Given the description of an element on the screen output the (x, y) to click on. 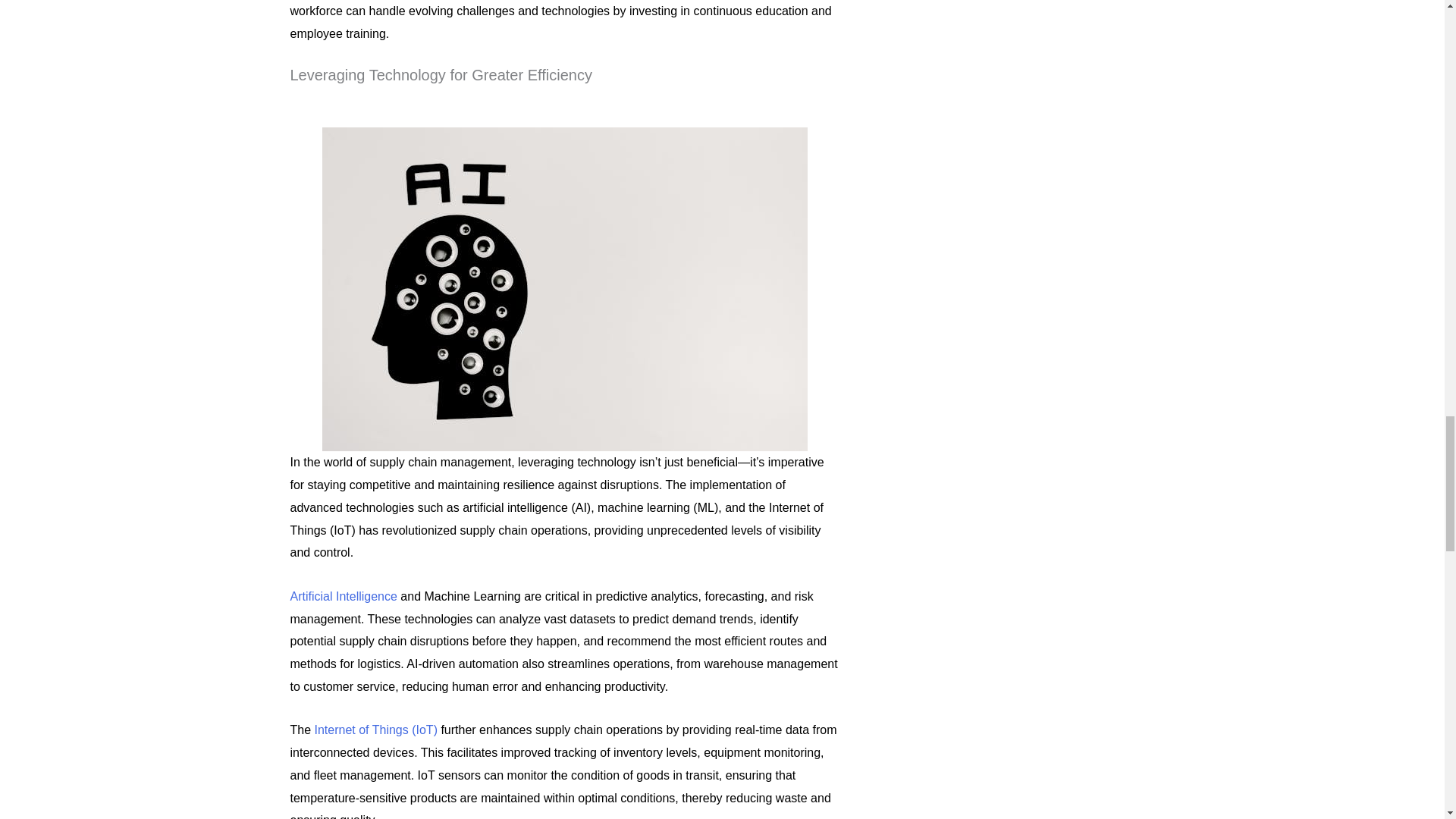
Artificial Intelligence (342, 595)
